Given the description of an element on the screen output the (x, y) to click on. 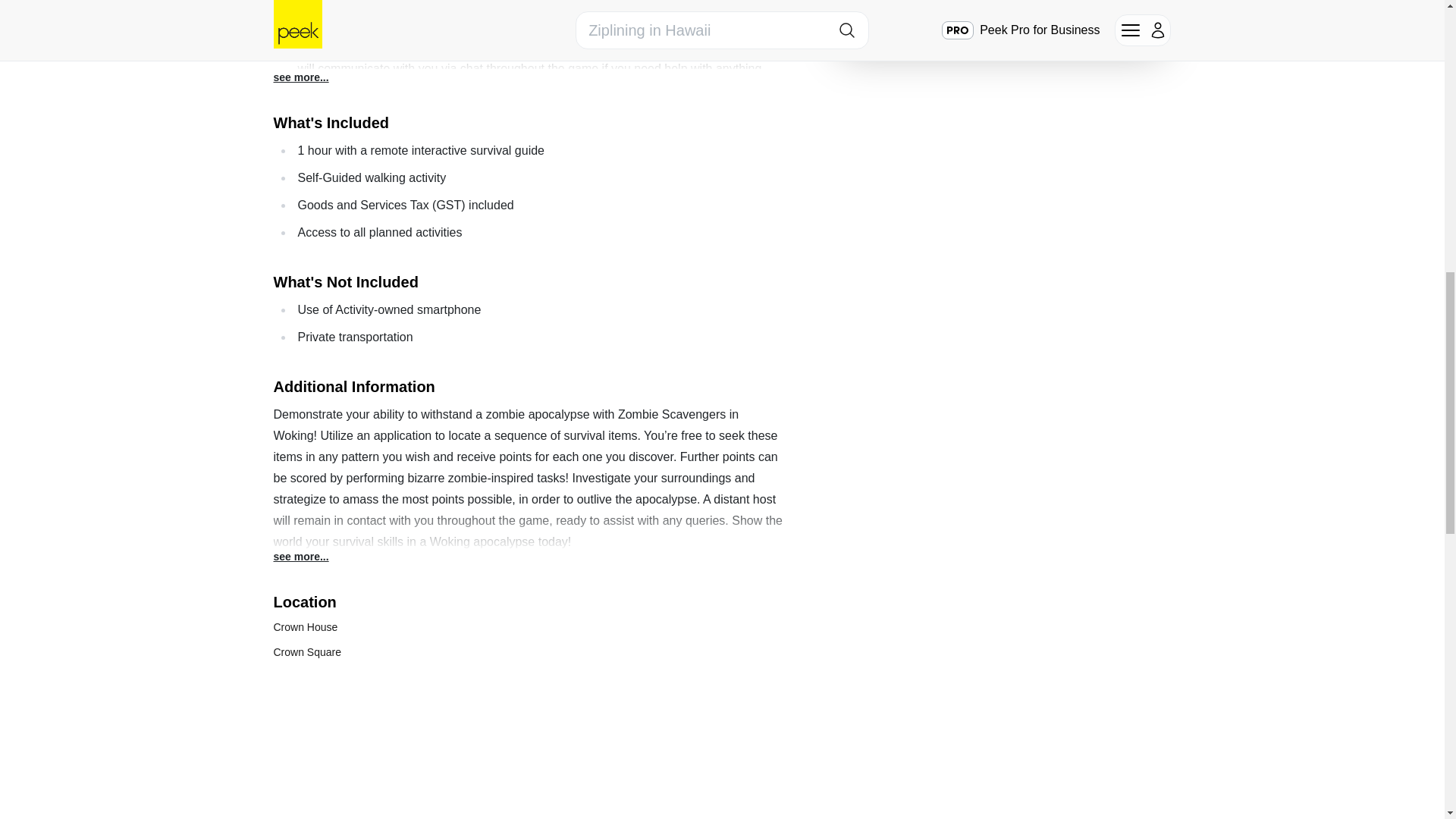
see more... (301, 556)
see more... (301, 76)
